Given the description of an element on the screen output the (x, y) to click on. 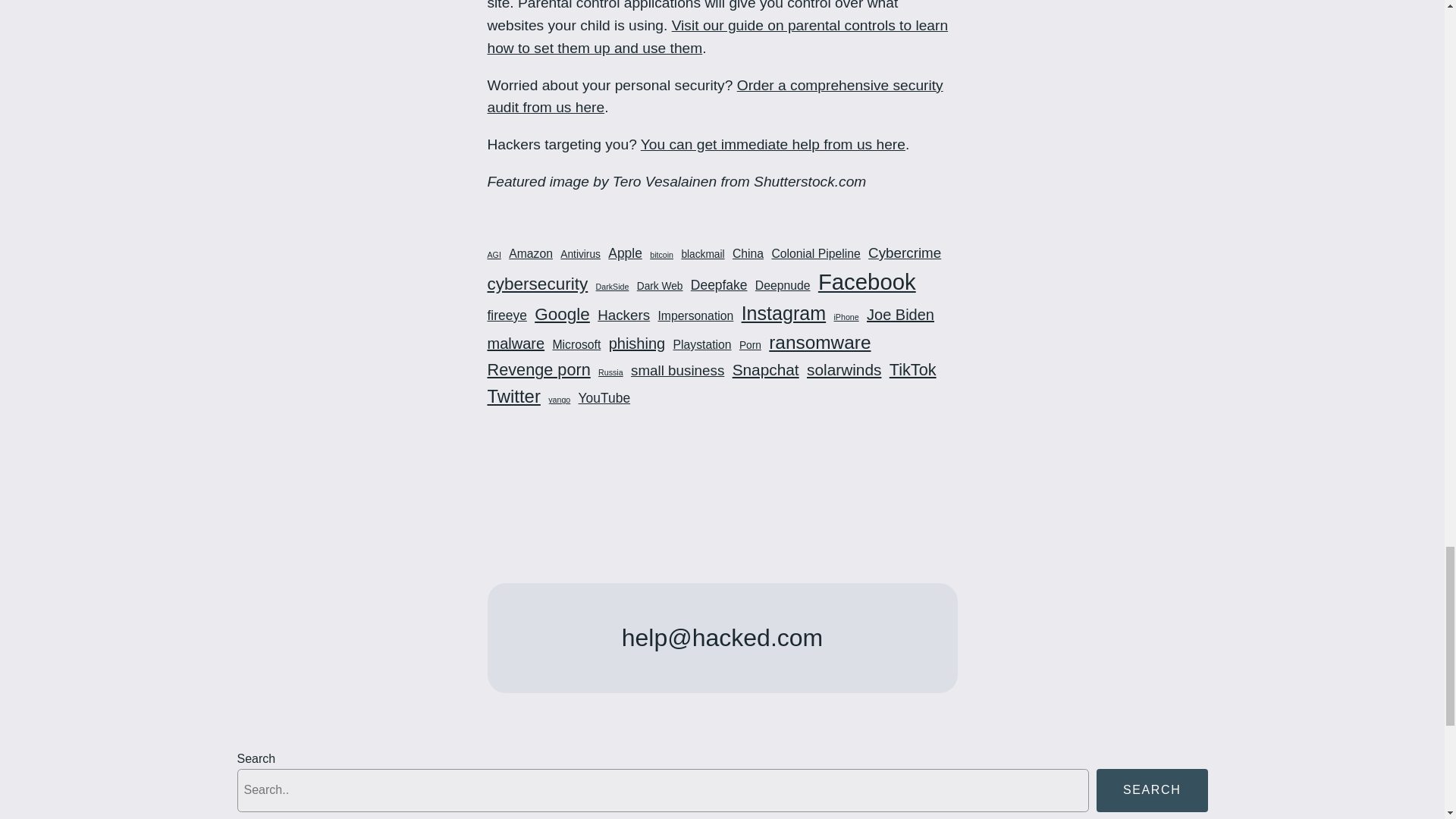
You can get immediate help from us here (772, 144)
AGI (493, 254)
bitcoin (660, 254)
Apple (625, 253)
Amazon (530, 253)
Order a comprehensive security audit from us here (714, 96)
Antivirus (579, 254)
